Given the description of an element on the screen output the (x, y) to click on. 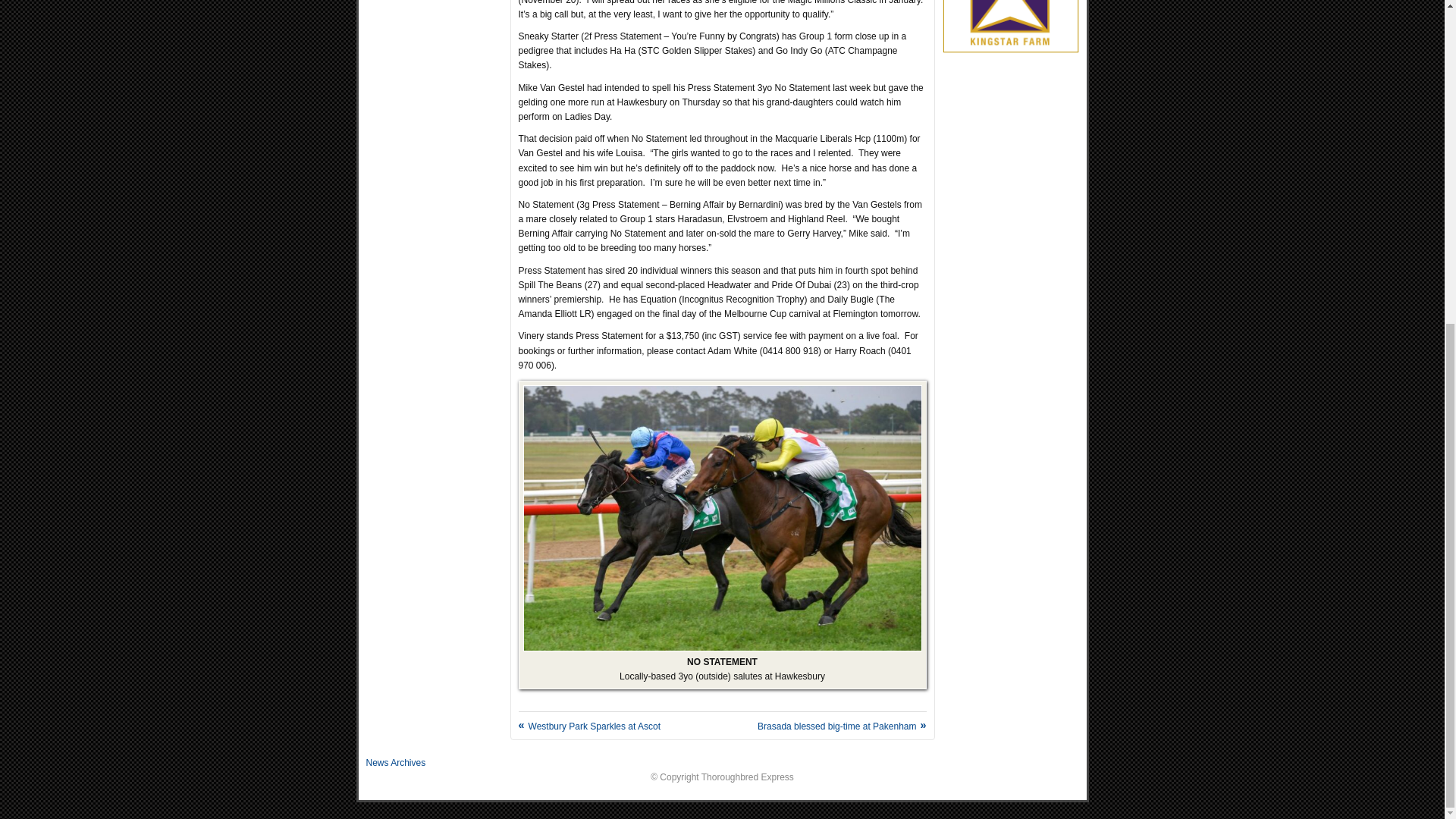
News Archives (395, 762)
